Given the description of an element on the screen output the (x, y) to click on. 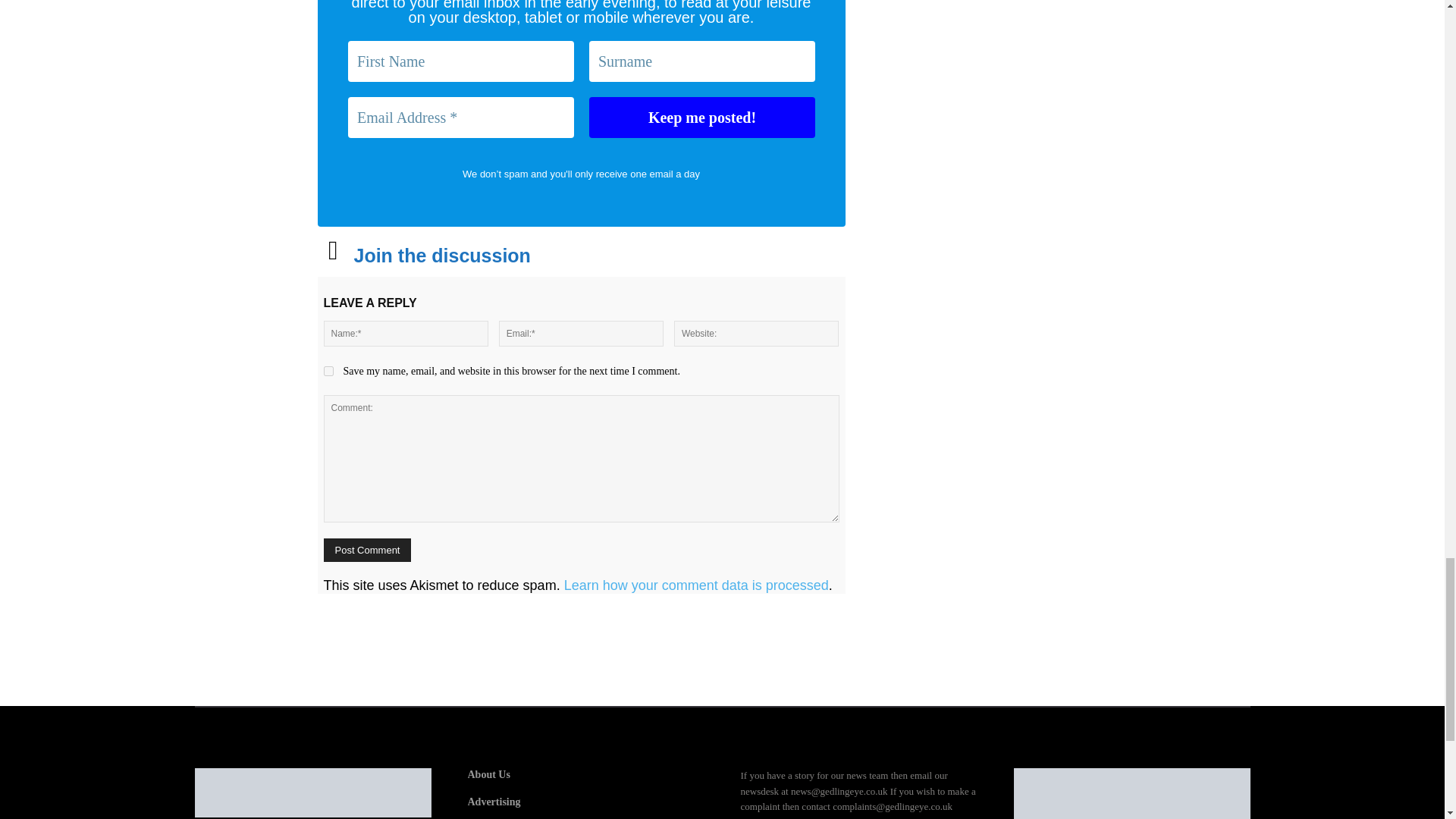
Keep me posted! (700, 117)
Post Comment (366, 549)
yes (328, 370)
